Given the description of an element on the screen output the (x, y) to click on. 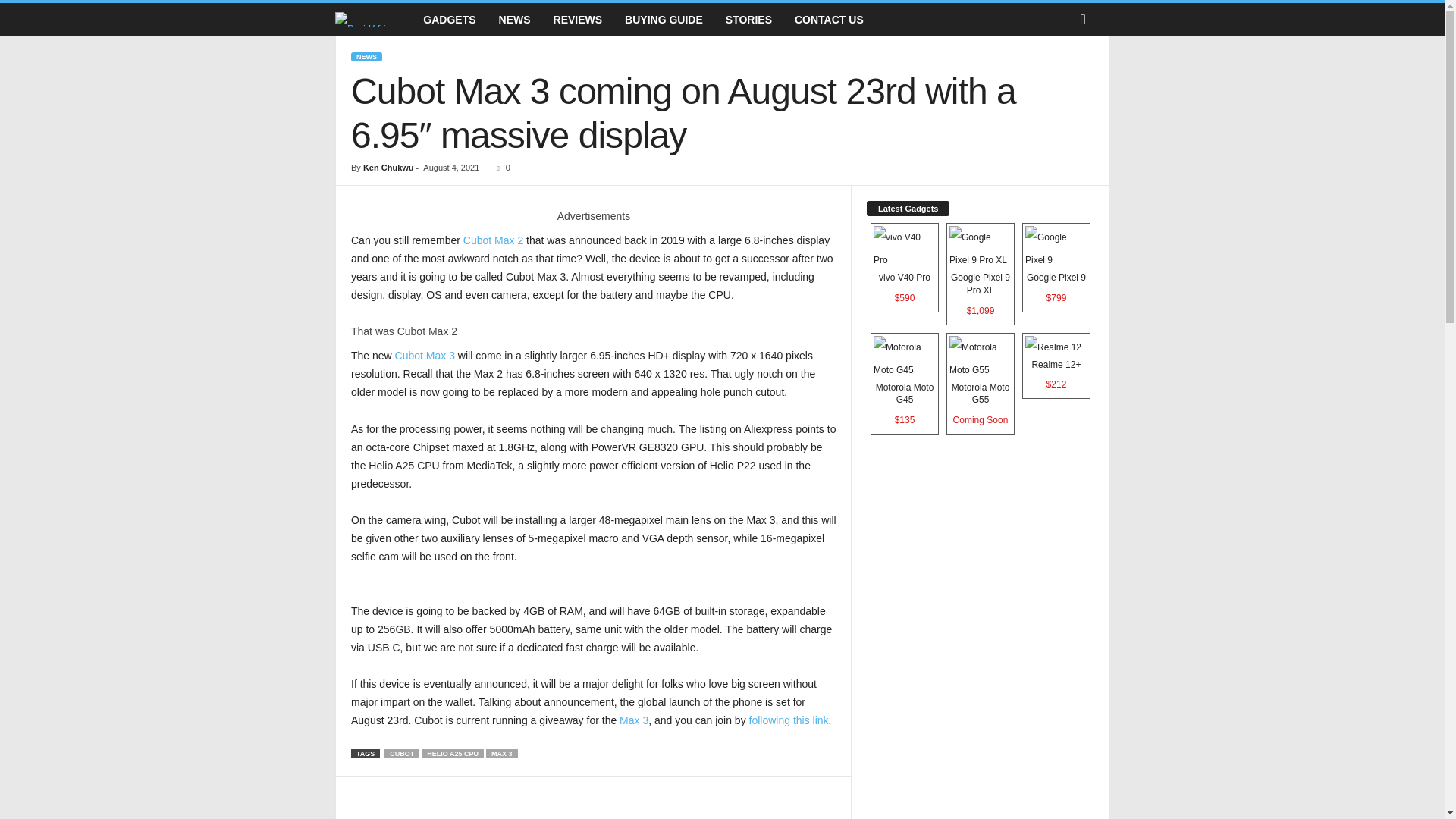
HELIO A25 CPU (452, 753)
Tech News, Specs, Unboxing and Reviews (365, 19)
DroidAfrica (373, 19)
REVIEWS (577, 19)
Max 3 (633, 720)
Cubot Max 3 (424, 355)
CUBOT (401, 753)
following this link (788, 720)
bottomFacebookLike (390, 791)
NEWS (365, 56)
